Given the description of an element on the screen output the (x, y) to click on. 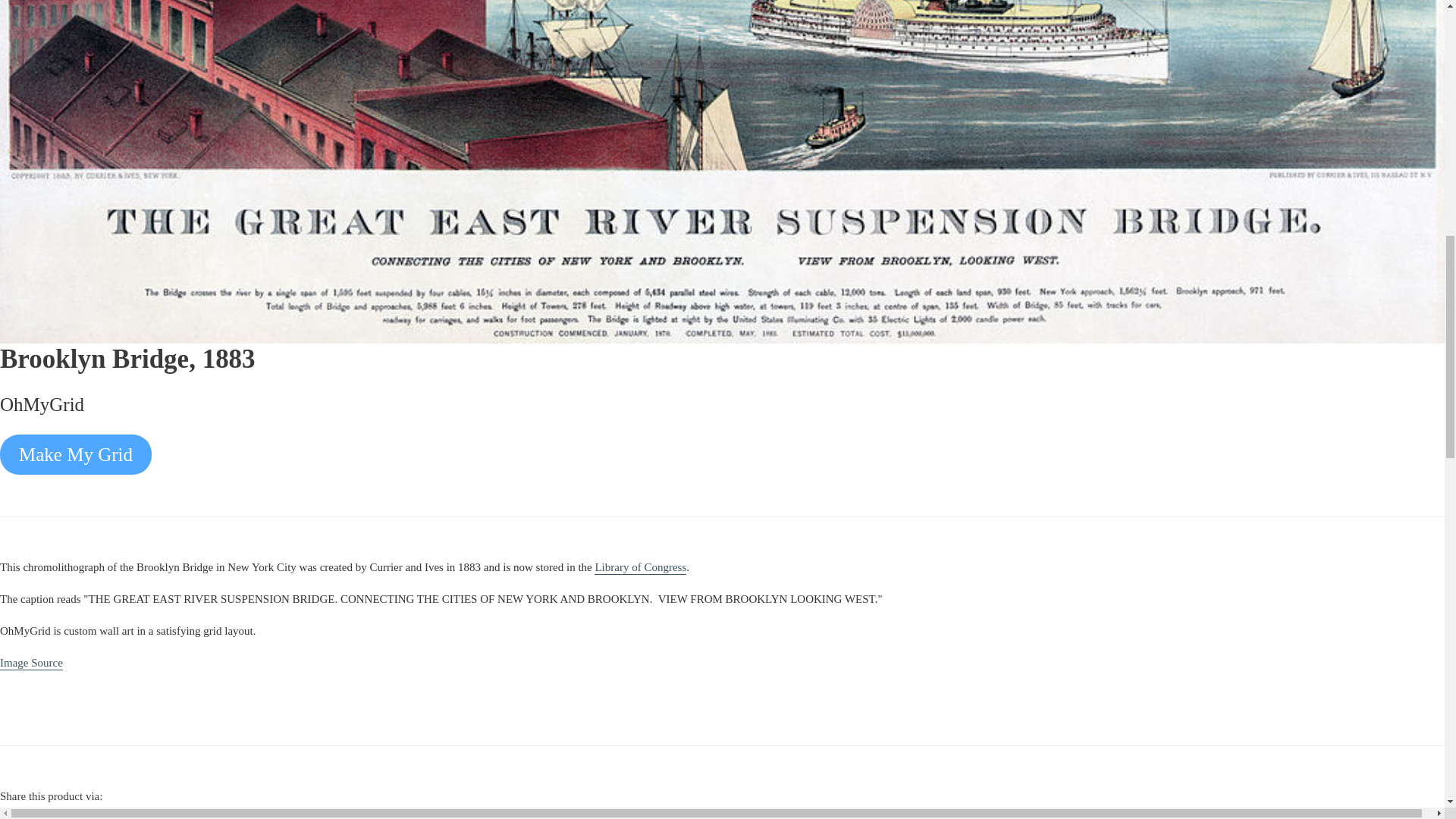
Image Source (31, 663)
Library of Congress (639, 567)
